Given the description of an element on the screen output the (x, y) to click on. 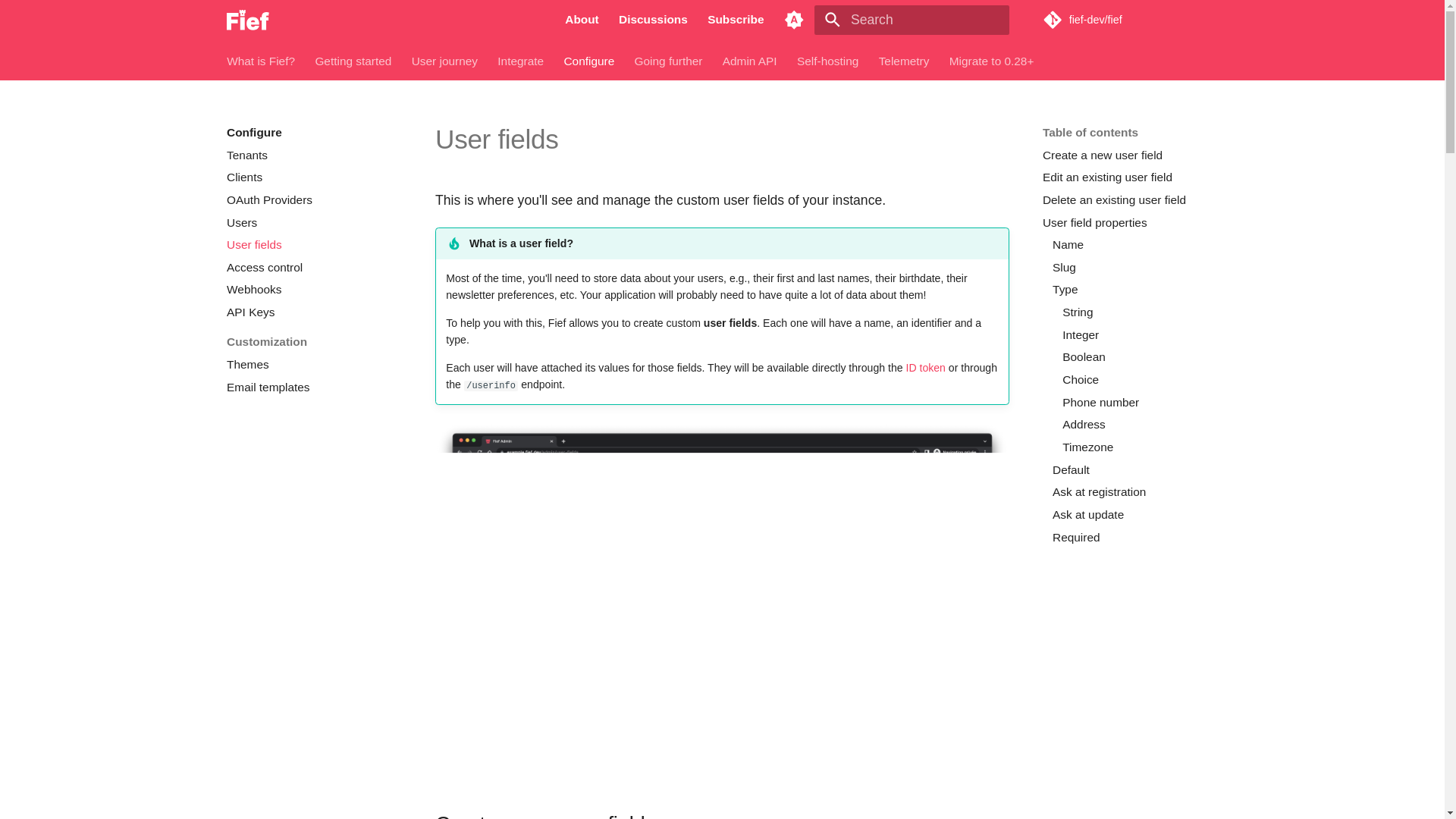
Getting started (352, 60)
Discussions (652, 19)
Configure (588, 60)
Integrate (520, 60)
Telemetry (904, 60)
User journey (444, 60)
About (581, 19)
Going further (667, 60)
Configure (314, 132)
Self-hosting (827, 60)
